Given the description of an element on the screen output the (x, y) to click on. 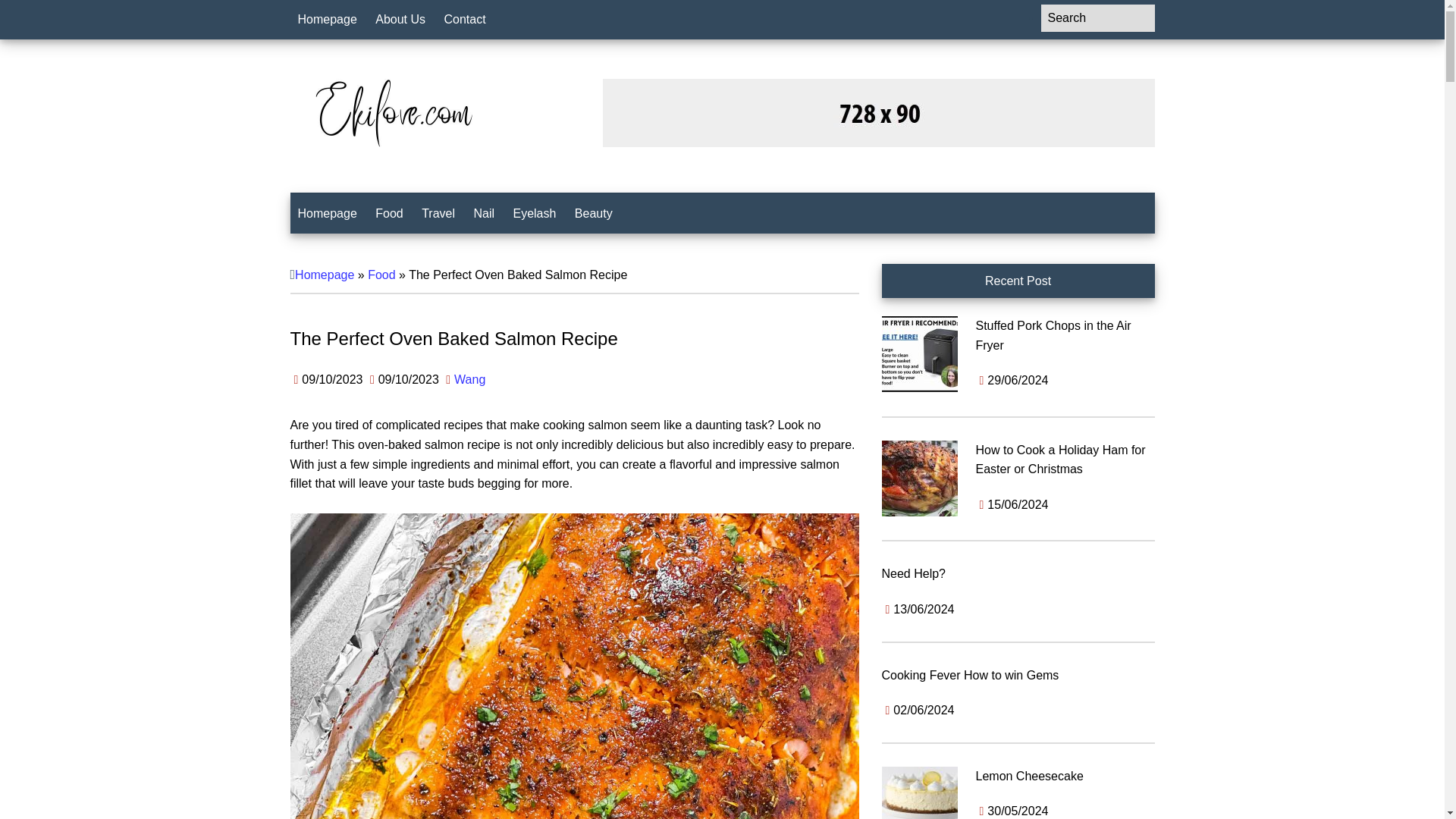
Homepage (326, 213)
About Us (400, 19)
Travel (438, 213)
Contact (464, 19)
Homepage (326, 19)
Food (389, 213)
Ekilove (392, 112)
Need Help? (912, 573)
Food (381, 274)
Cooking Fever How to win Gems (969, 675)
Eyelash (534, 213)
How to Cook a Holiday Ham for Easter or Christmas (1059, 459)
Beauty (593, 213)
Nail (483, 213)
Wang (469, 379)
